Given the description of an element on the screen output the (x, y) to click on. 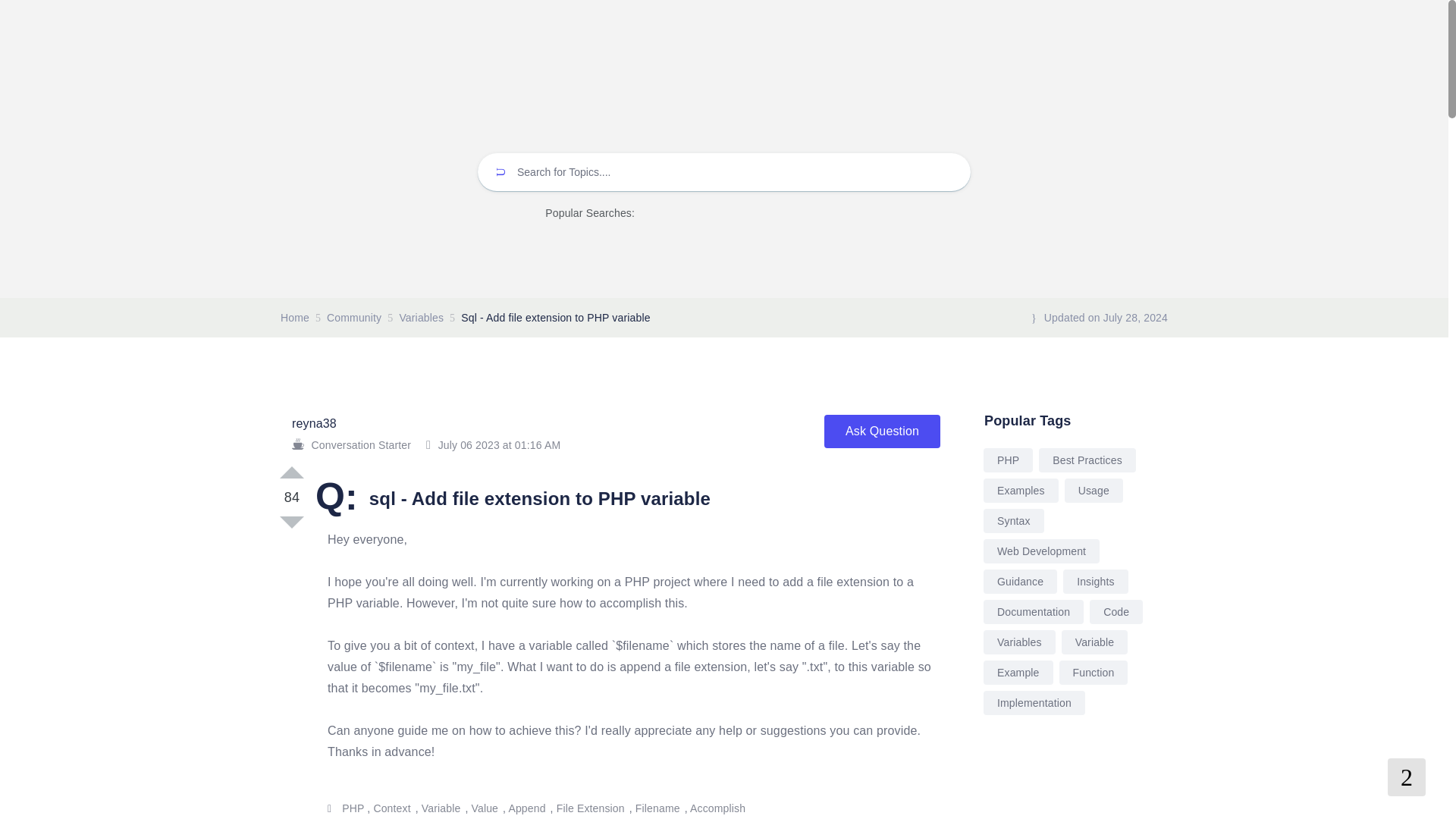
Ask Question (882, 430)
Filename (657, 808)
Accomplish (718, 808)
Append (527, 808)
Context (392, 808)
Home (294, 316)
Variables (421, 316)
reyna38 (314, 422)
Value (485, 808)
Back to Top (1406, 777)
PHP (353, 808)
Question (336, 501)
Advertisement (1073, 785)
Variable (442, 808)
File Extension (591, 808)
